Given the description of an element on the screen output the (x, y) to click on. 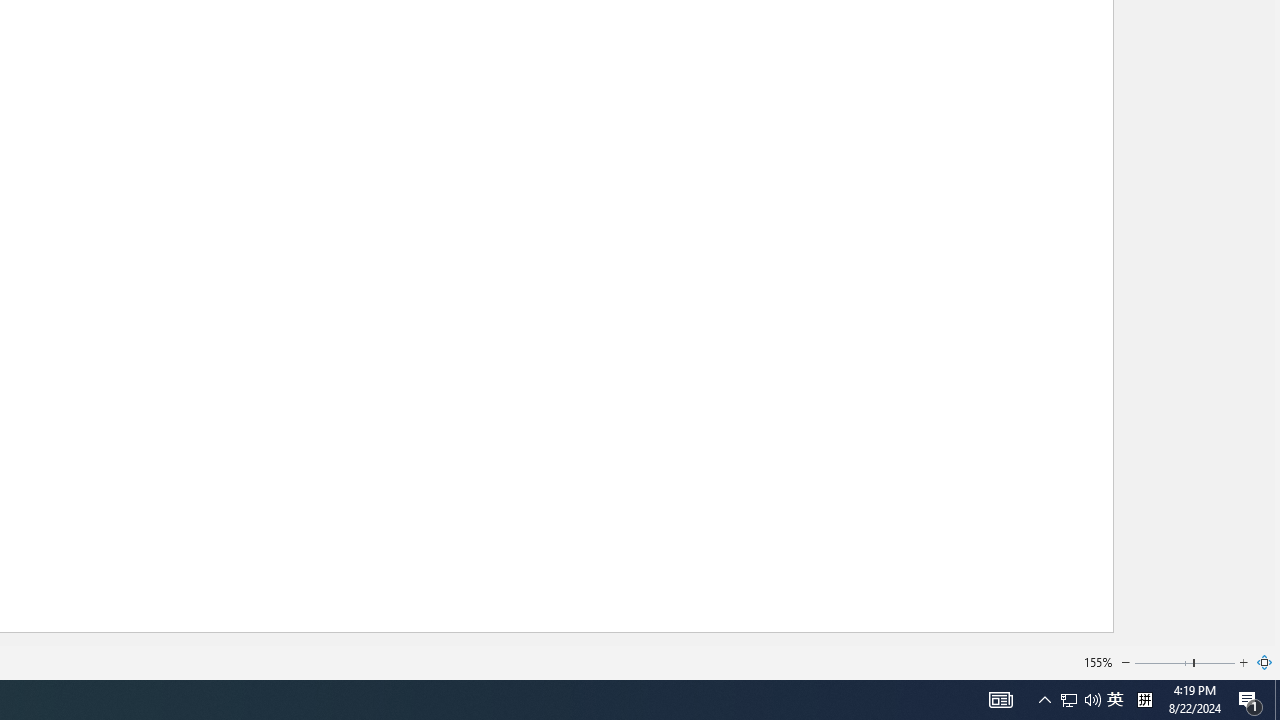
Page right (1215, 662)
Zoom to Page (1265, 662)
Page left (1163, 662)
